Given the description of an element on the screen output the (x, y) to click on. 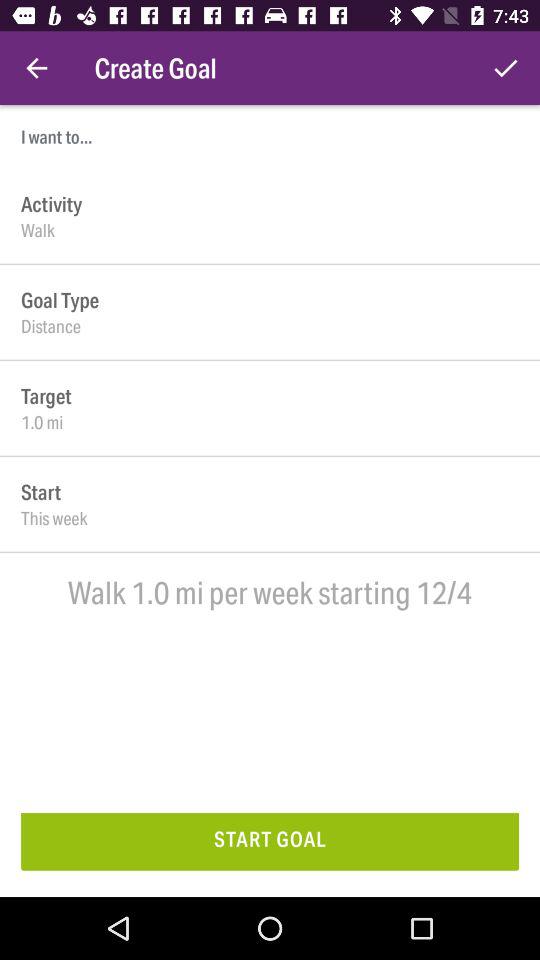
choose item to the right of create goal icon (505, 67)
